Given the description of an element on the screen output the (x, y) to click on. 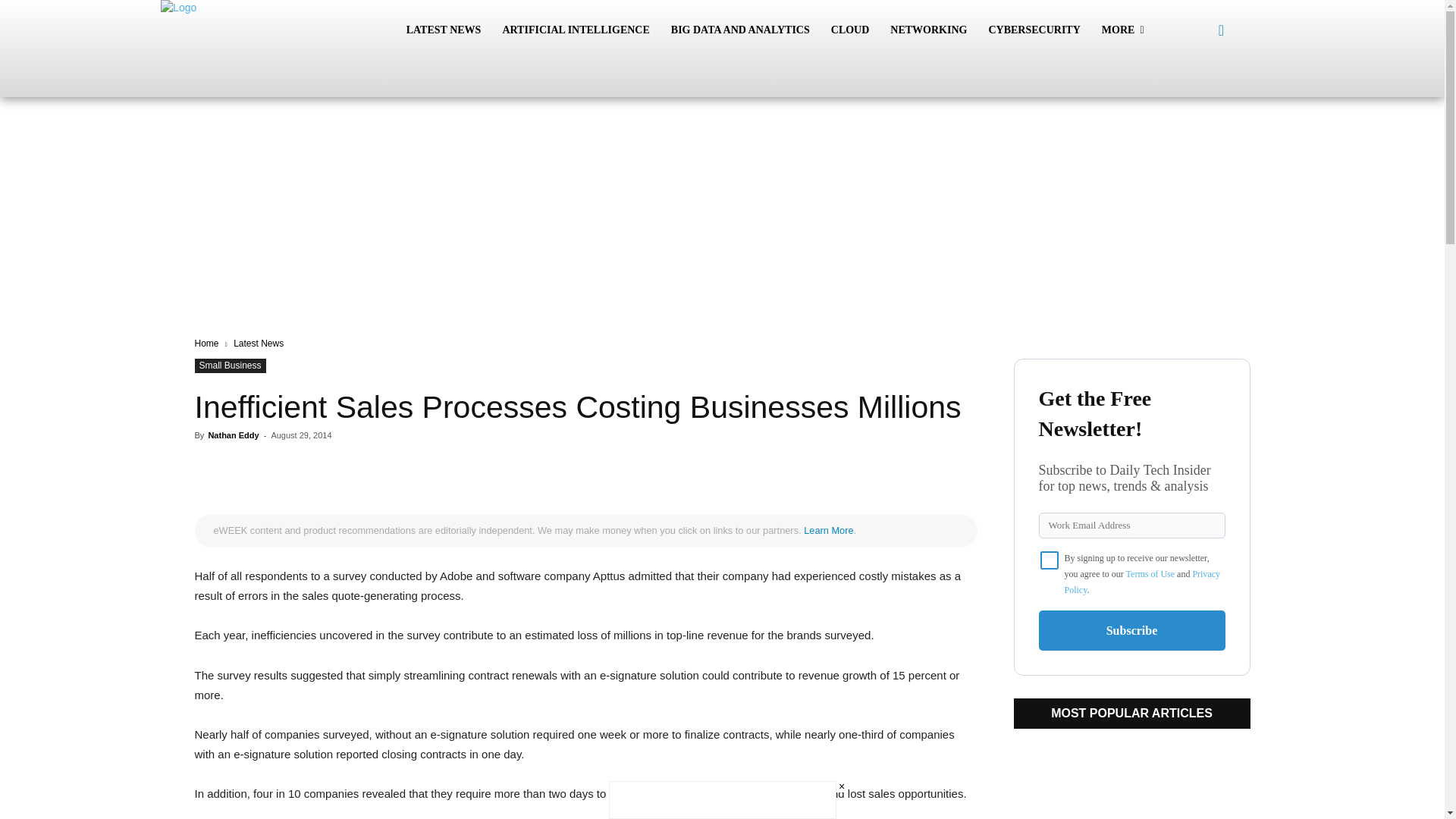
CYBERSECURITY (1033, 30)
BIG DATA AND ANALYTICS (741, 30)
NETWORKING (927, 30)
CLOUD (850, 30)
LATEST NEWS (444, 30)
ARTIFICIAL INTELLIGENCE (575, 30)
on (1049, 560)
